Given the description of an element on the screen output the (x, y) to click on. 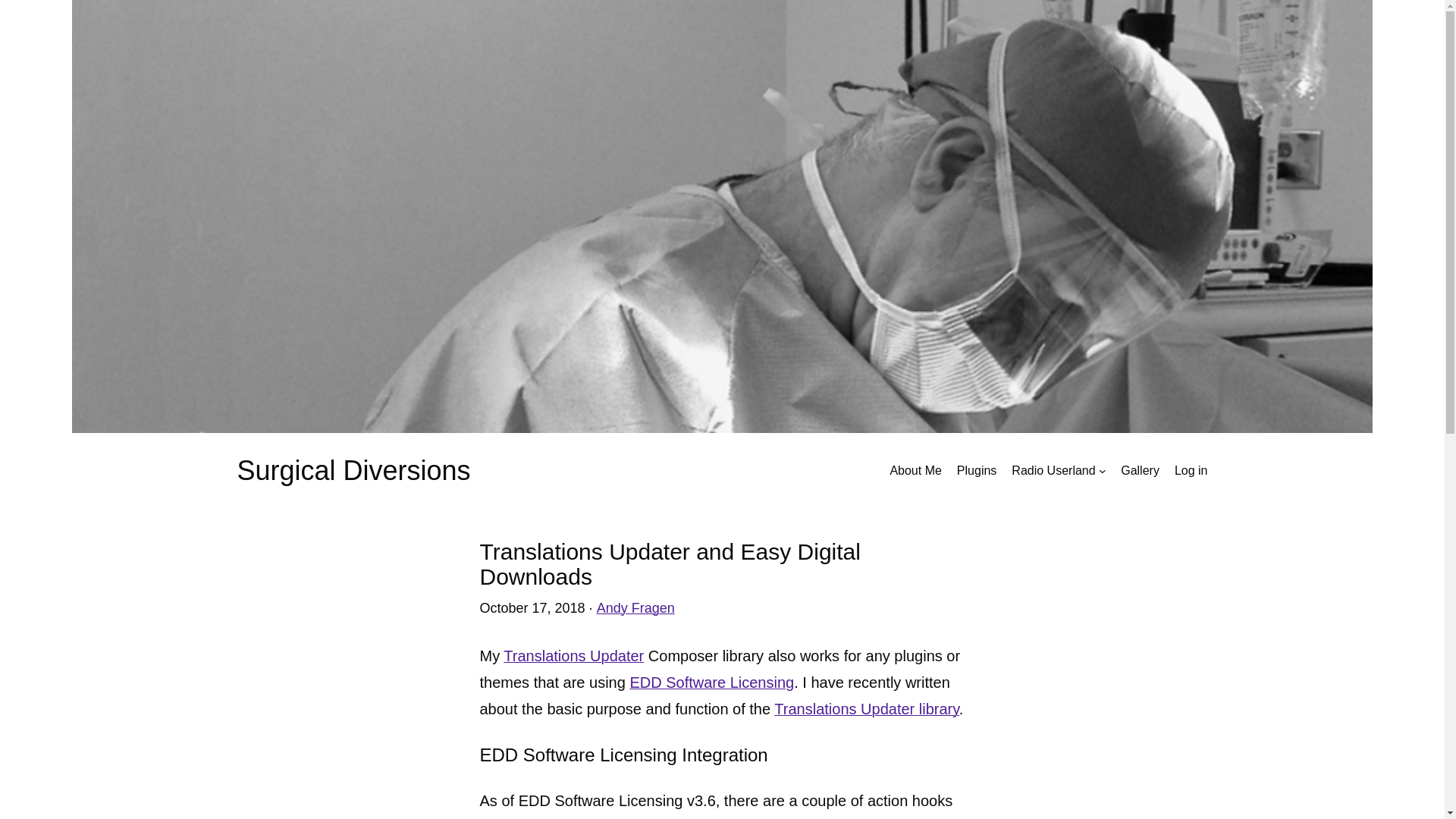
EDD Software Licensing (710, 682)
Surgical Diversions (352, 470)
Plugins (975, 470)
Translations Updater library (866, 709)
Gallery (1139, 470)
About Me (914, 470)
Log in (1191, 470)
Radio Userland (1052, 470)
Translations Updater (573, 655)
Andy Fragen (635, 607)
